Given the description of an element on the screen output the (x, y) to click on. 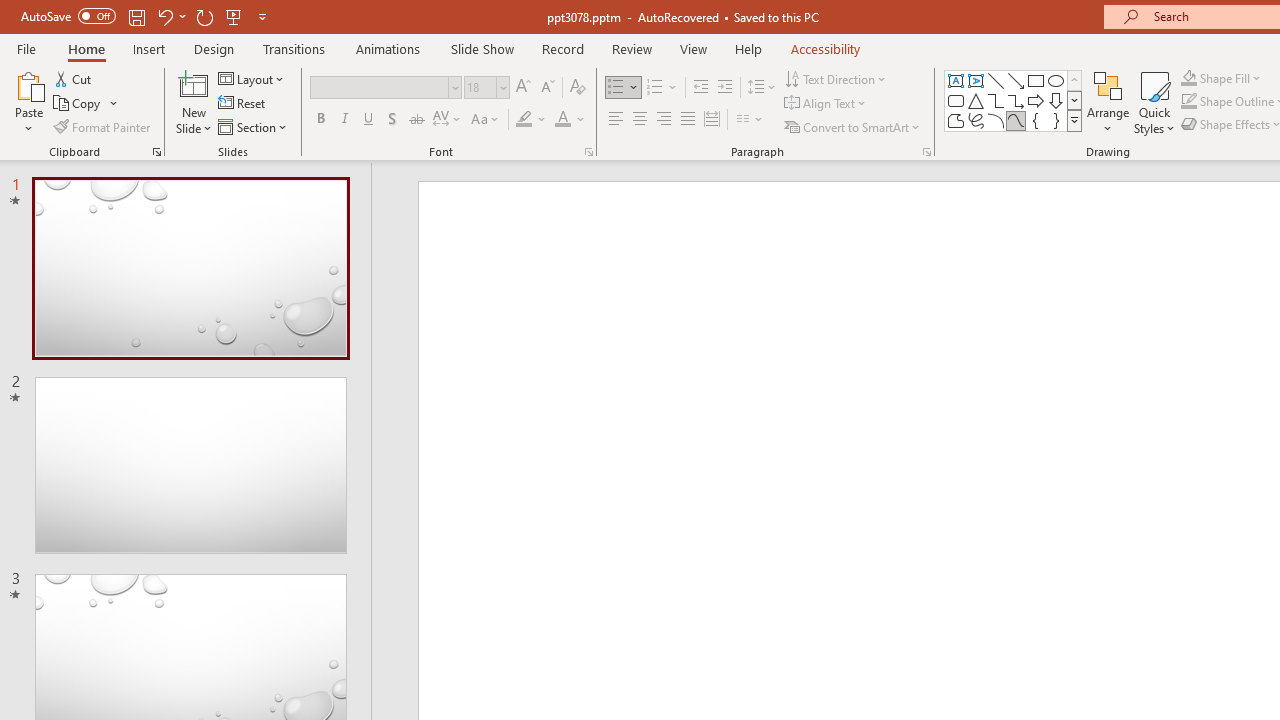
Text Box (955, 80)
Change Case (486, 119)
Font Size (480, 87)
Align Left (616, 119)
Center (639, 119)
Align Right (663, 119)
Copy (85, 103)
Cut (73, 78)
Increase Indent (725, 87)
Font Color (569, 119)
